Given the description of an element on the screen output the (x, y) to click on. 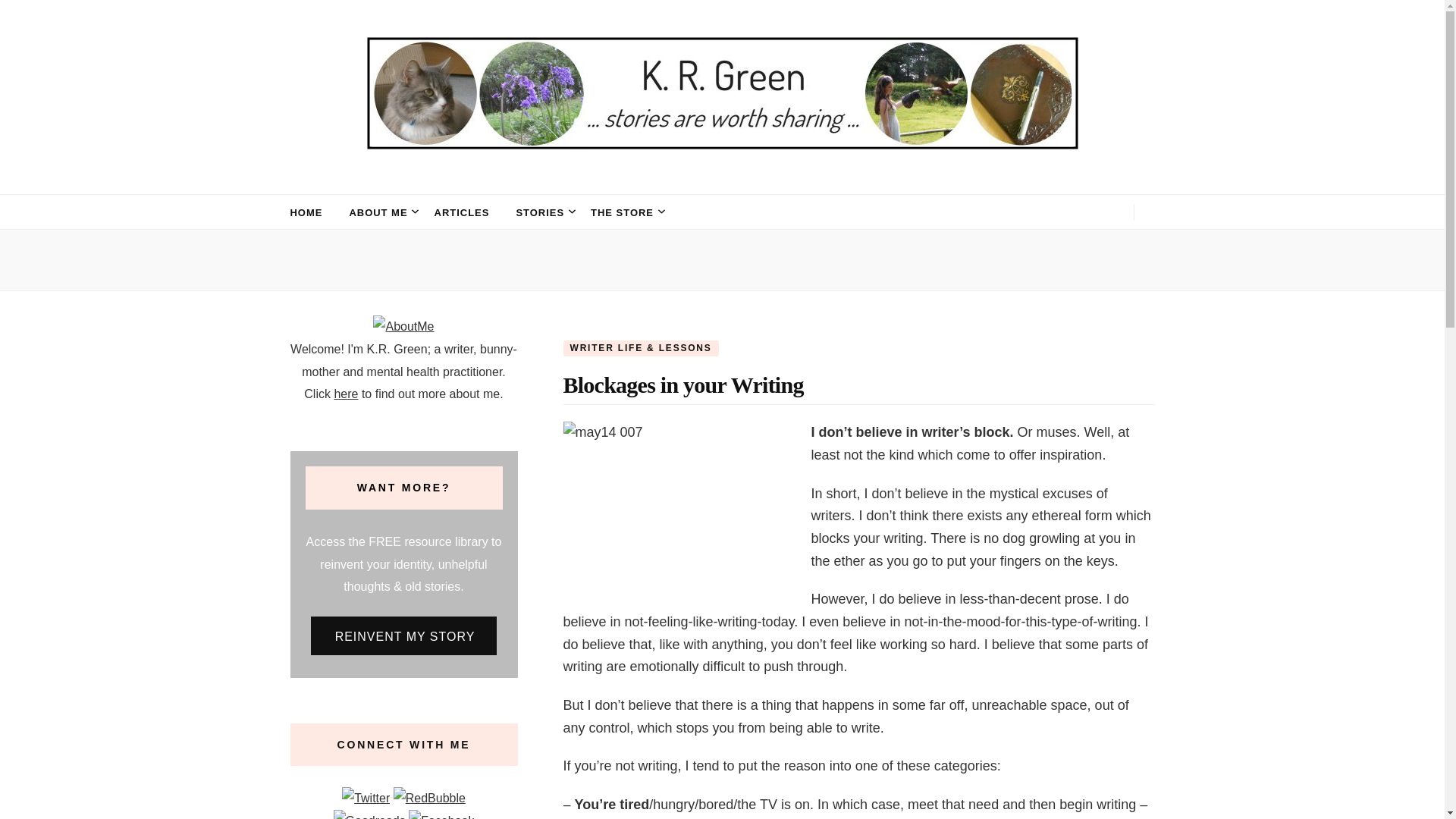
REINVENT MY STORY (404, 635)
ABOUT ME (378, 212)
here (345, 393)
STORIES (539, 212)
K.R.Green (389, 181)
THE STORE (622, 212)
HOME (305, 212)
ARTICLES (461, 212)
